Given the description of an element on the screen output the (x, y) to click on. 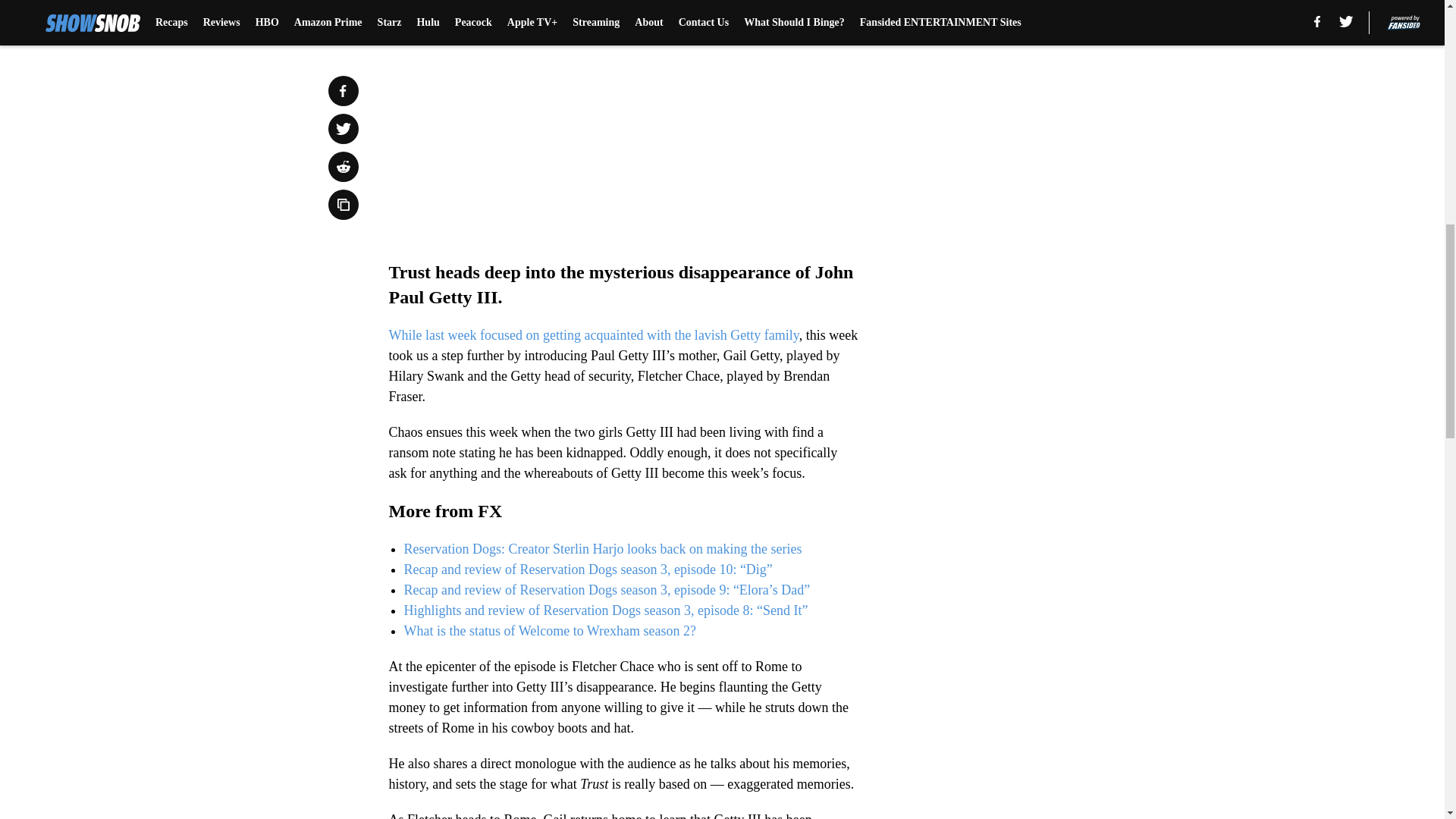
What is the status of Welcome to Wrexham season 2? (549, 630)
